Given the description of an element on the screen output the (x, y) to click on. 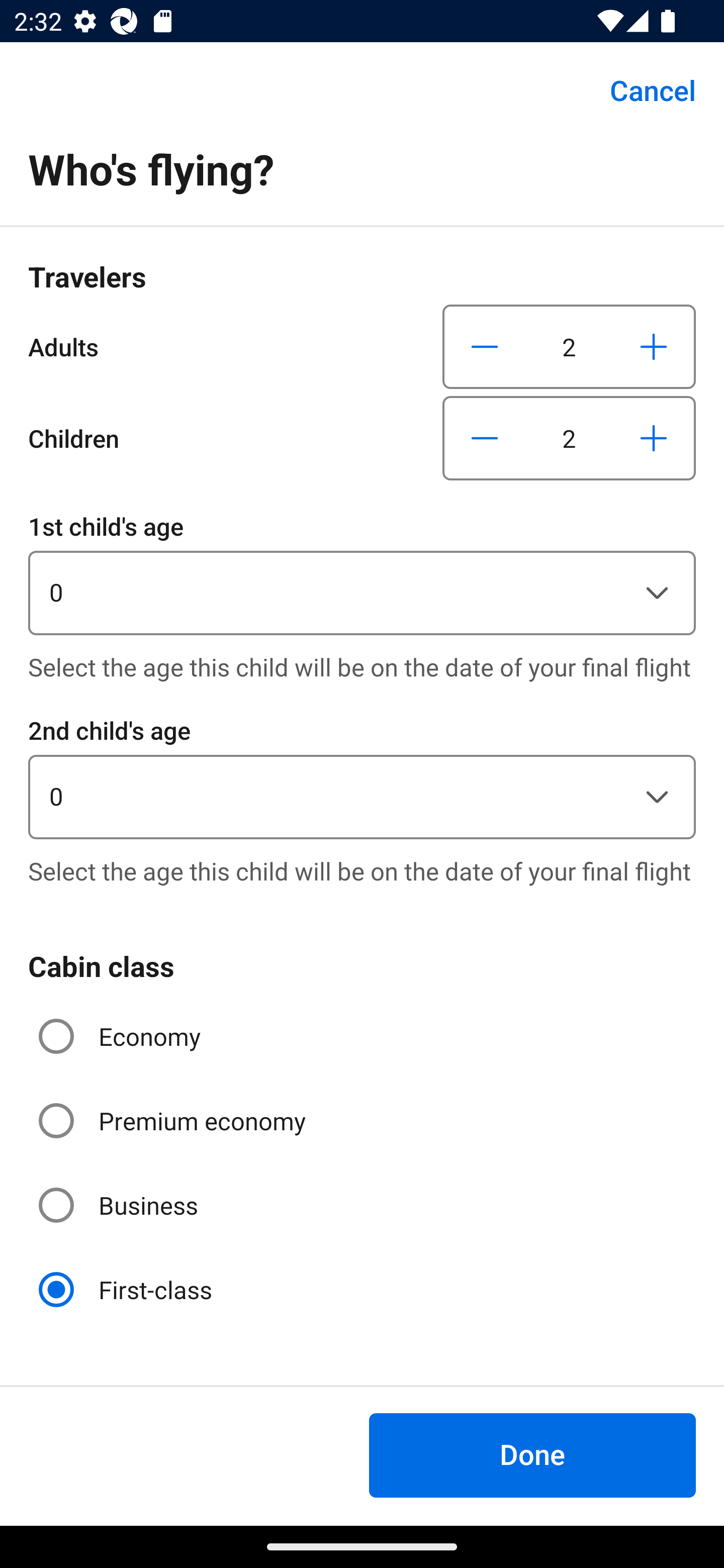
Cancel (641, 90)
Decrease (484, 346)
Increase (653, 346)
Decrease (484, 437)
Increase (653, 437)
1st child's age
 1st child's age 0 (361, 571)
2nd child's age
 2nd child's age 0 (361, 774)
Economy (121, 1036)
Premium economy (174, 1120)
Business (120, 1205)
First-class (126, 1289)
Done (532, 1454)
